Given the description of an element on the screen output the (x, y) to click on. 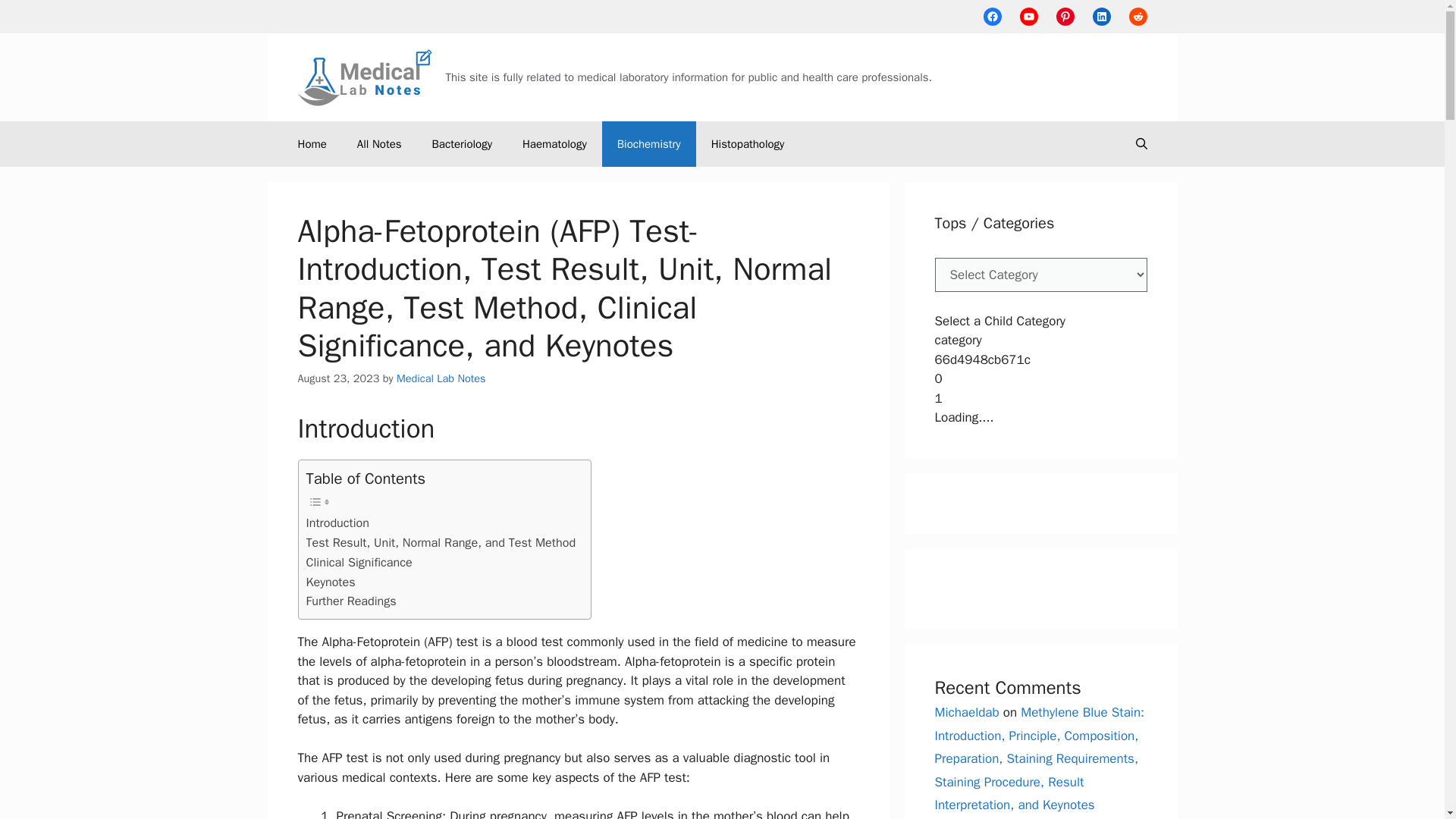
Further Readings (350, 600)
All Notes (379, 144)
YouTube (1027, 16)
LinkedIn (1100, 16)
Biochemistry (648, 144)
View all posts by Medical Lab Notes (441, 377)
Keynotes (330, 582)
Test Result, Unit, Normal Range, and Test Method (440, 542)
Clinical Significance (358, 562)
Bacteriology (461, 144)
